Given the description of an element on the screen output the (x, y) to click on. 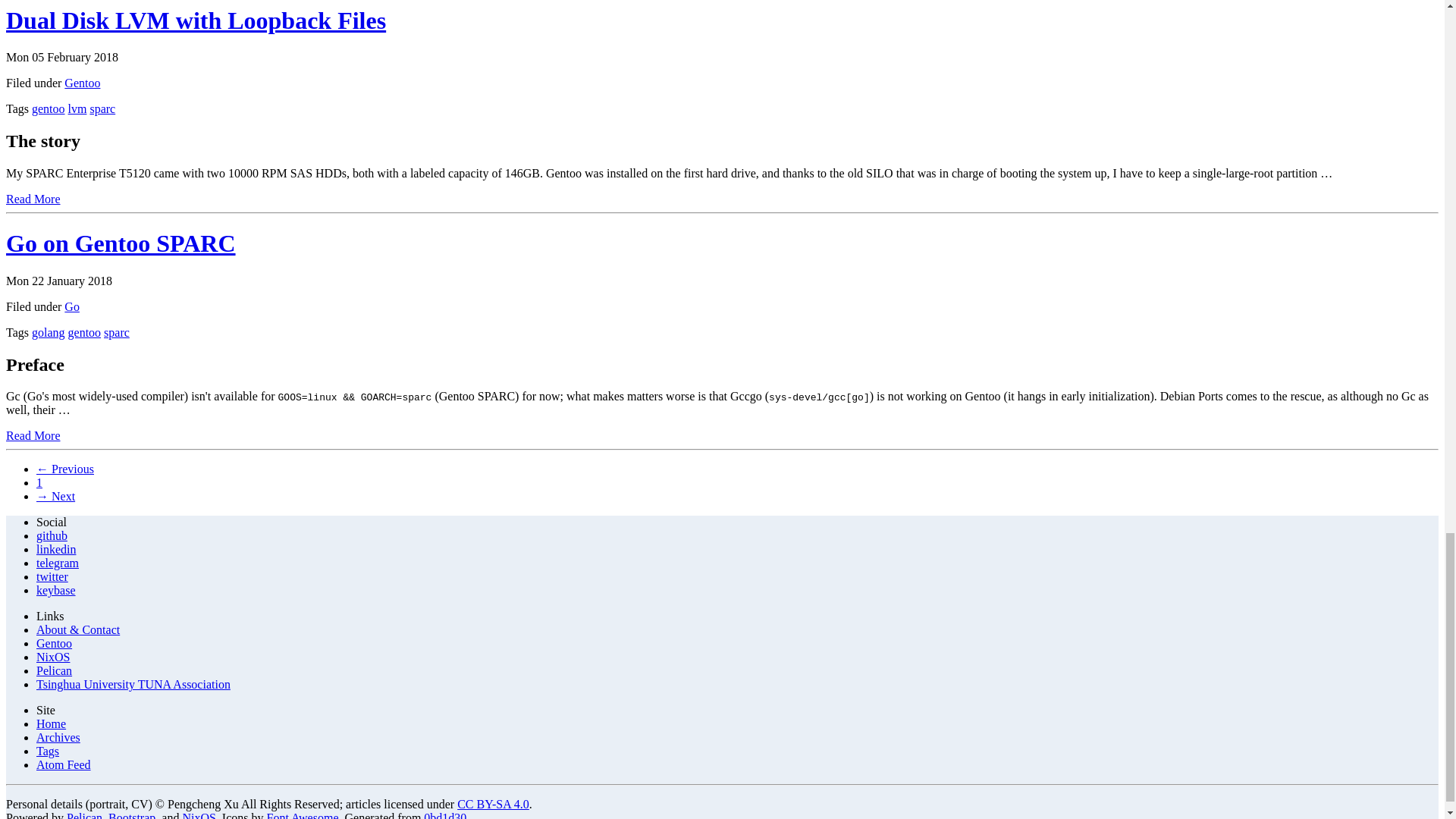
lvm (77, 108)
Read More (33, 198)
Gentoo (82, 82)
Read More (33, 435)
gentoo (48, 108)
Go (72, 306)
gentoo (84, 332)
sparc (116, 332)
sparc (101, 108)
golang (48, 332)
